Given the description of an element on the screen output the (x, y) to click on. 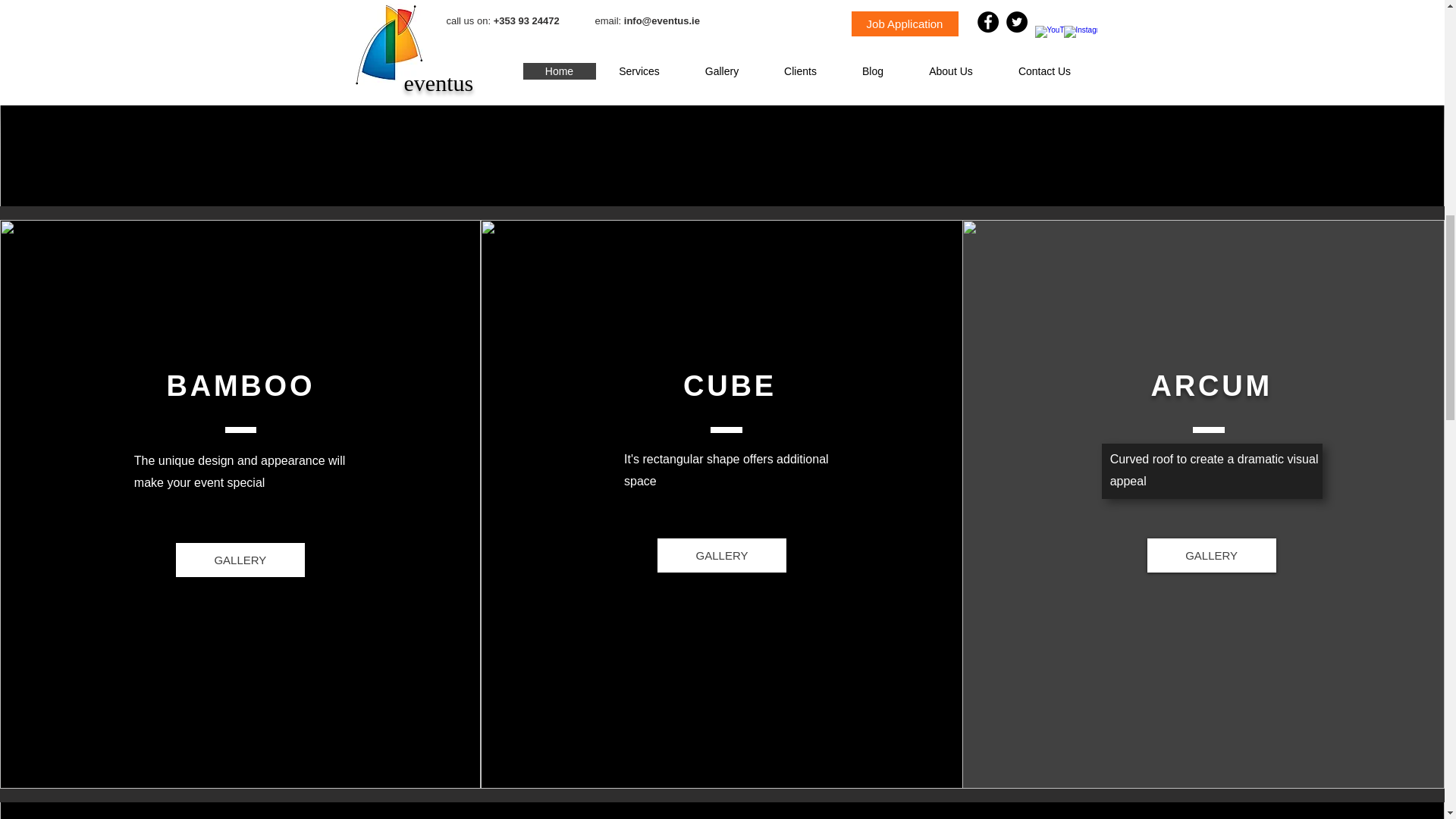
GALLERY (240, 559)
GALLERY (1211, 555)
GALLERY (722, 555)
